Given the description of an element on the screen output the (x, y) to click on. 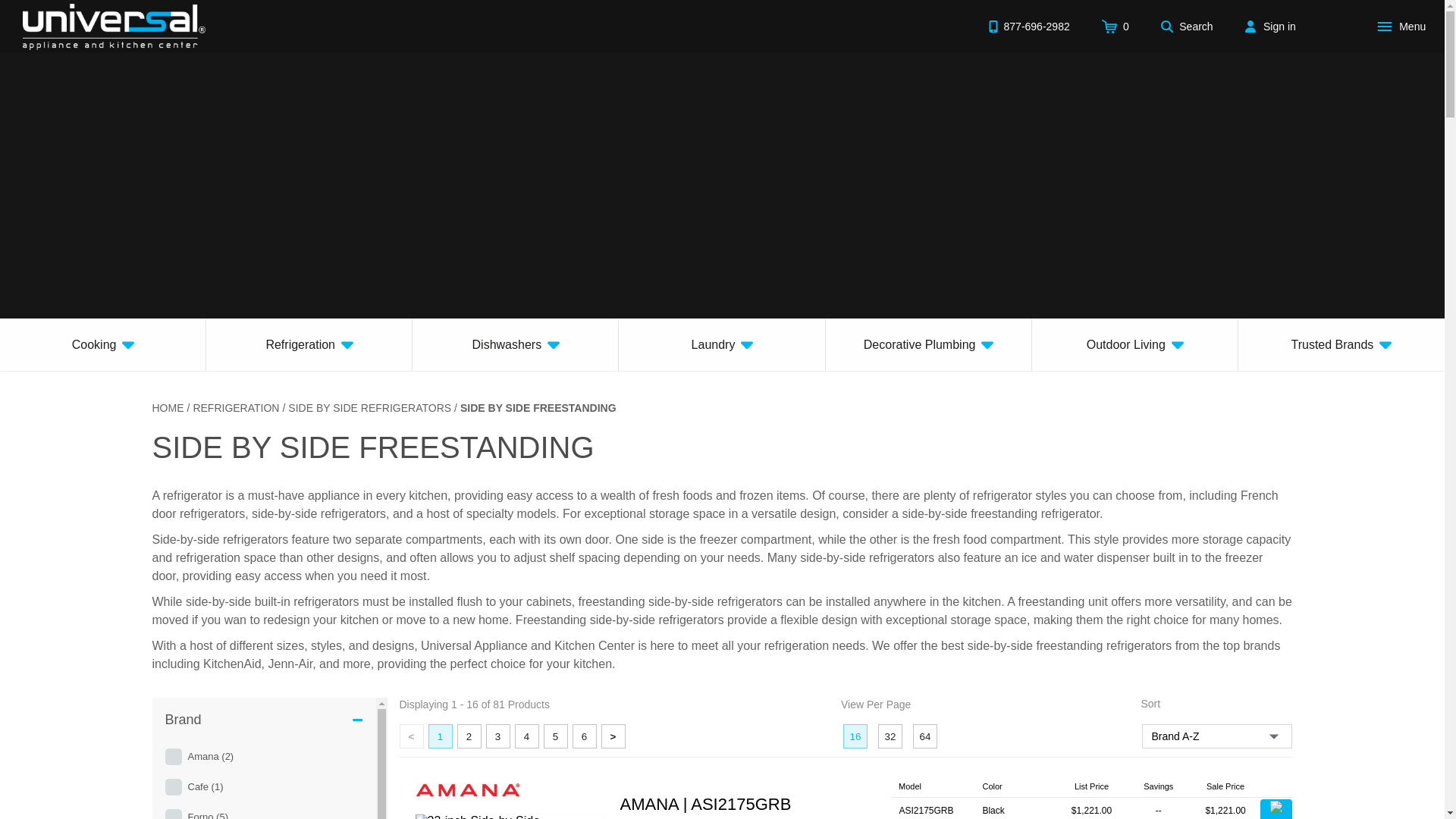
Outdoor Living (1135, 344)
Cooking (103, 344)
16 (855, 735)
5 (555, 735)
Sign in (1270, 26)
6 (583, 735)
ASI2175GRB Black (1091, 808)
REFRIGERATION (235, 408)
4 (525, 735)
64 (924, 735)
Search (1186, 26)
SIDE BY SIDE REFRIGERATORS (369, 408)
Laundry (721, 344)
Refrigeration (309, 344)
3 (496, 735)
